Given the description of an element on the screen output the (x, y) to click on. 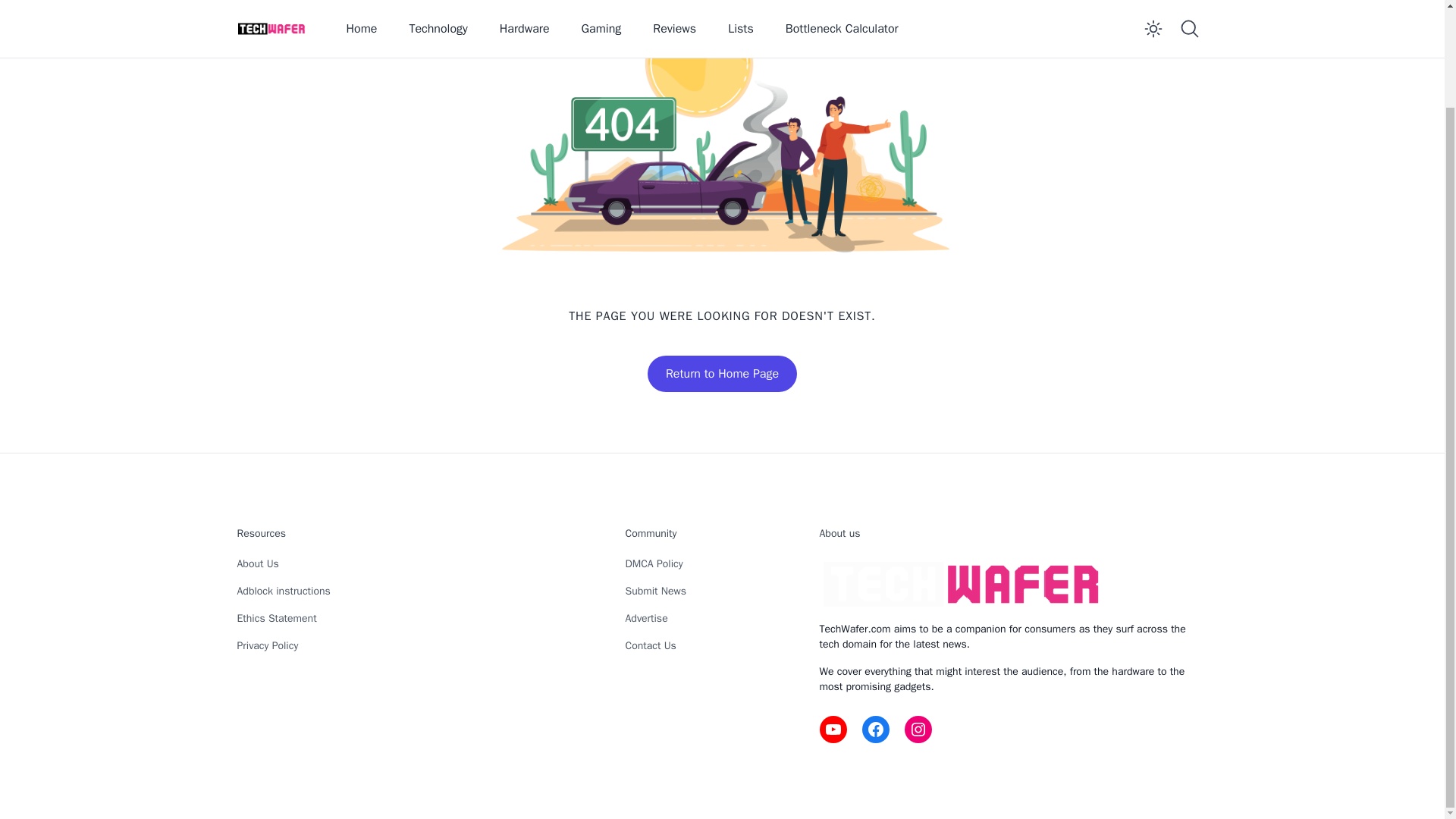
Submit News (654, 590)
Advertise (645, 617)
Return to Home Page (721, 373)
Facebook (874, 728)
Contact Us (649, 645)
Privacy Policy (266, 645)
Ethics Statement (275, 617)
Adblock instructions (282, 590)
DMCA Policy (653, 563)
Instagram (917, 728)
